Given the description of an element on the screen output the (x, y) to click on. 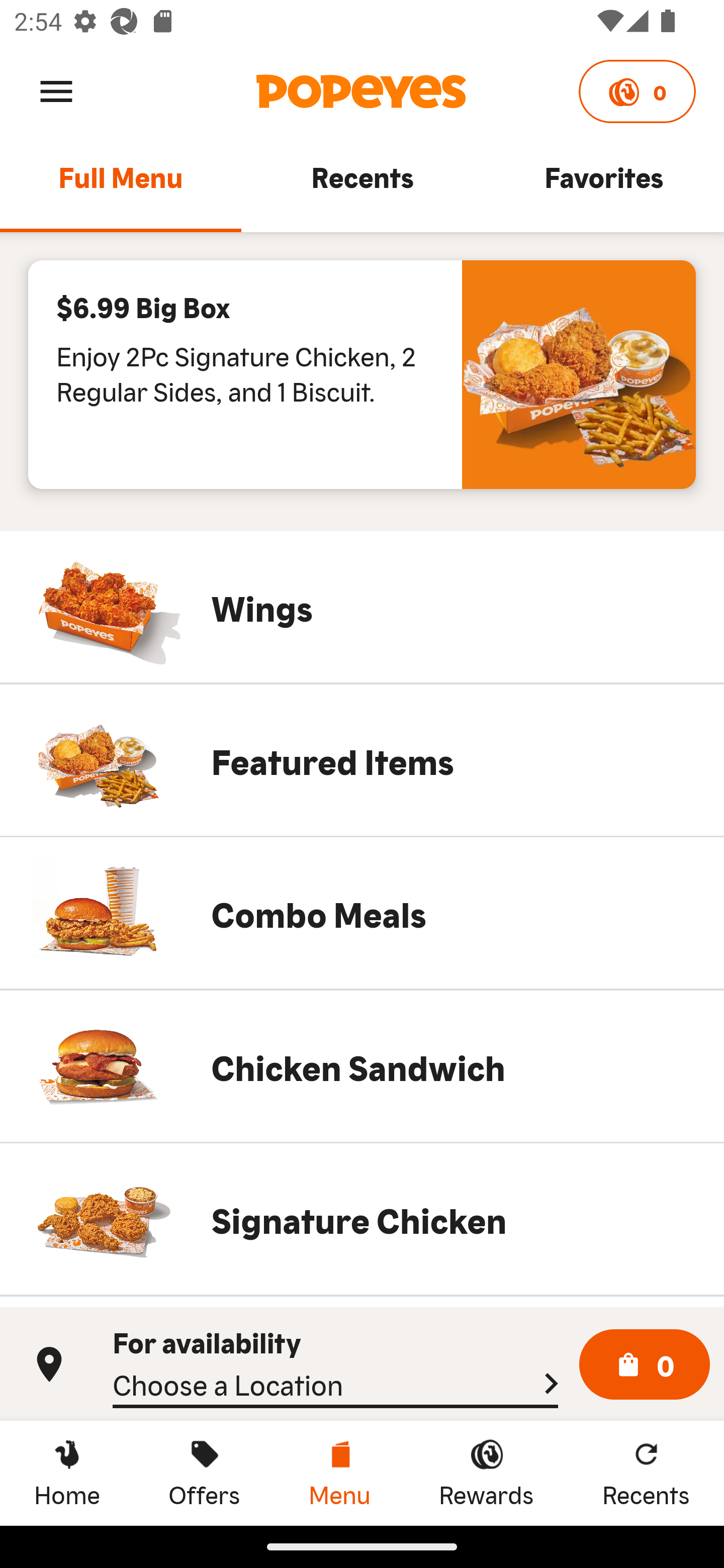
Menu  (56, 90)
0 Points 0 (636, 91)
Full Menu (120, 186)
Recents (361, 186)
Favorites (603, 186)
Wings, Wings Wings Wings (362, 606)
0 Cart total  0 (644, 1364)
Home Home Home (66, 1472)
Offers Offers Offers (203, 1472)
Menu, current page Menu Menu, current page (339, 1472)
Rewards Rewards Rewards (486, 1472)
Recents Recents Recents (646, 1472)
